Given the description of an element on the screen output the (x, y) to click on. 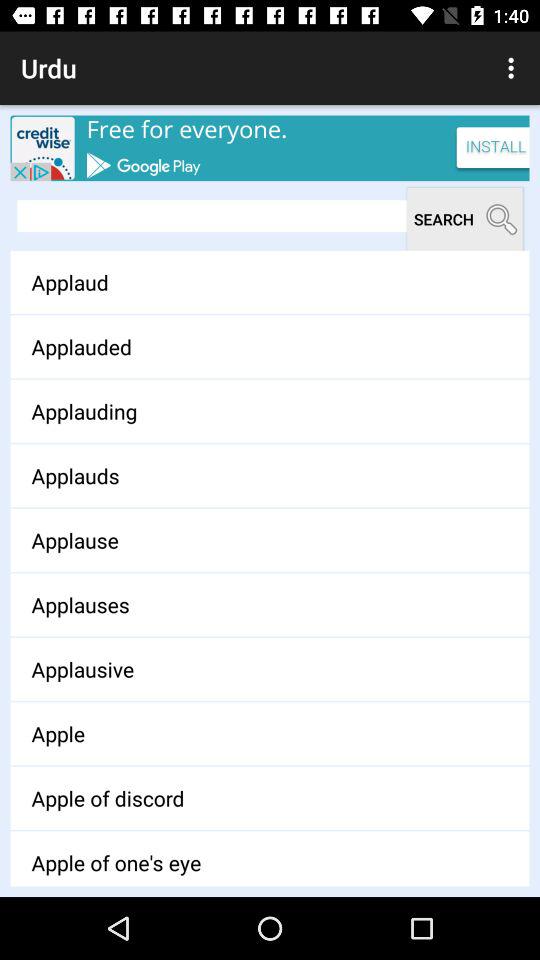
search word (212, 216)
